Given the description of an element on the screen output the (x, y) to click on. 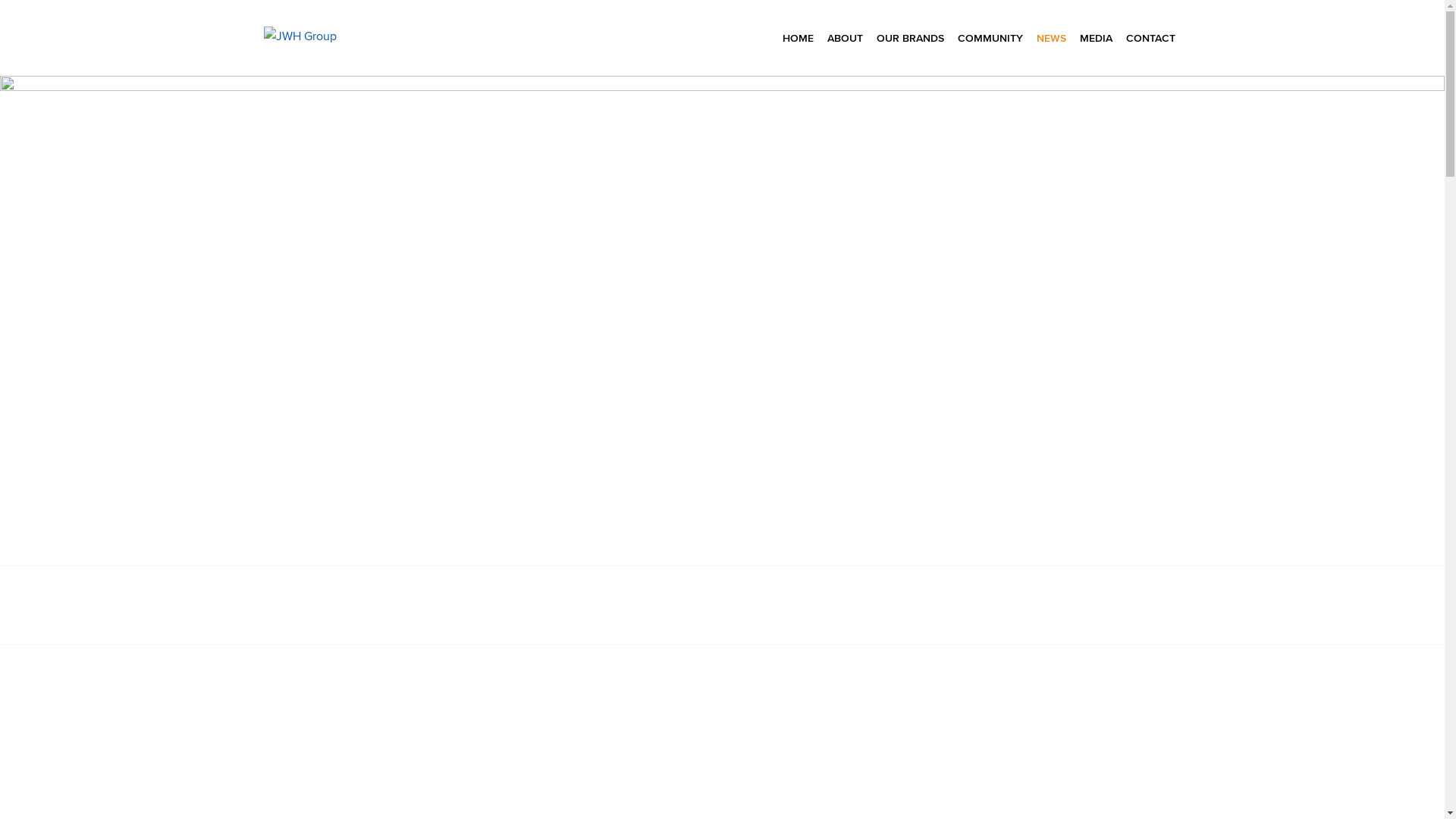
COMMUNITY Element type: text (990, 37)
NEWS Element type: text (1051, 37)
ABOUT Element type: text (845, 37)
OUR BRANDS Element type: text (910, 37)
CONTACT Element type: text (1150, 37)
MEDIA Element type: text (1095, 37)
HOME Element type: text (798, 37)
